Given the description of an element on the screen output the (x, y) to click on. 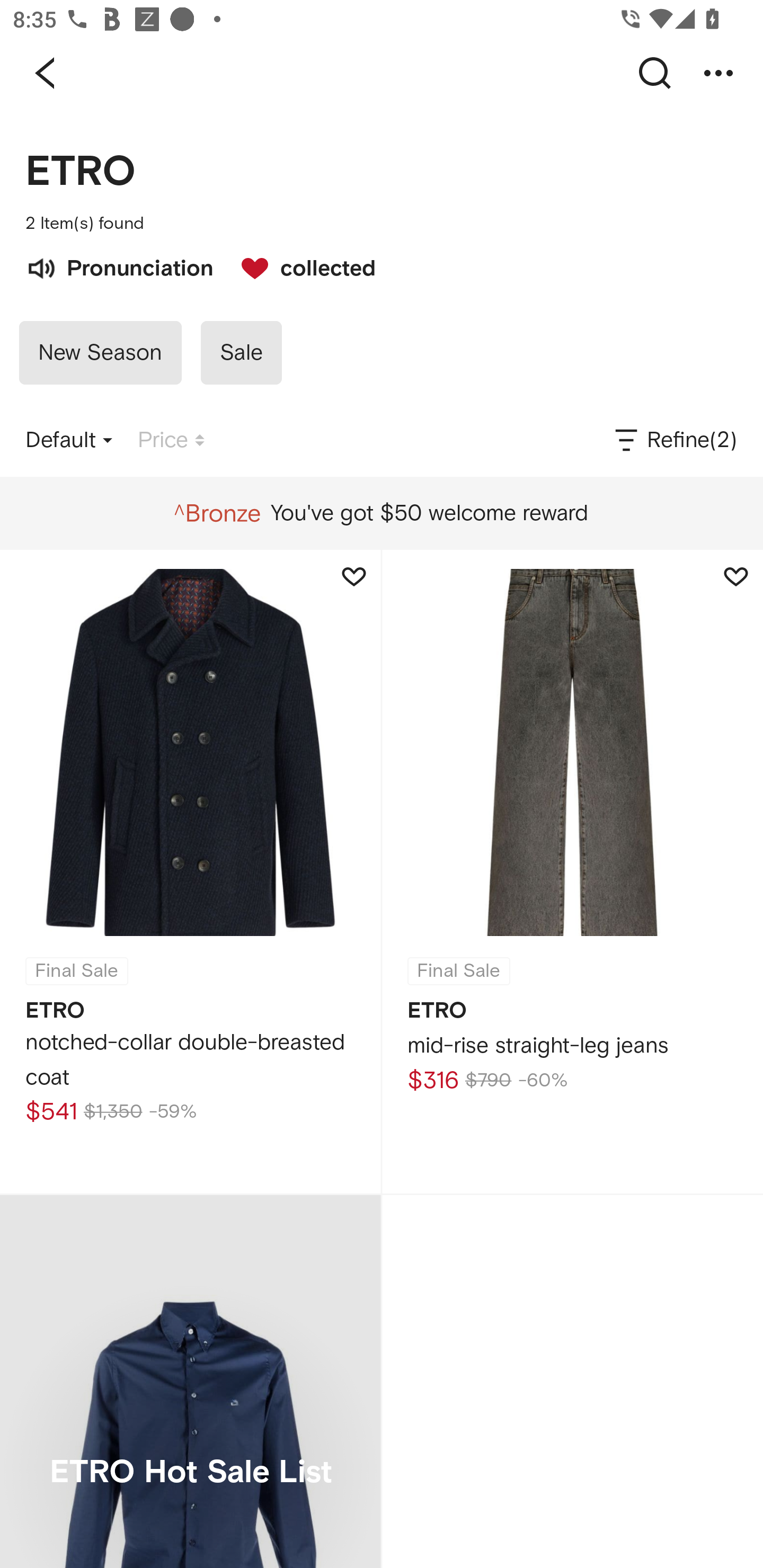
Pronunciation (119, 266)
collected (298, 266)
New Season (100, 352)
Sale (240, 352)
Default (68, 440)
Price (171, 440)
Refine(2) (674, 440)
You've got $50 welcome reward (381, 513)
ETRO Hot Sale List (190, 1381)
